Given the description of an element on the screen output the (x, y) to click on. 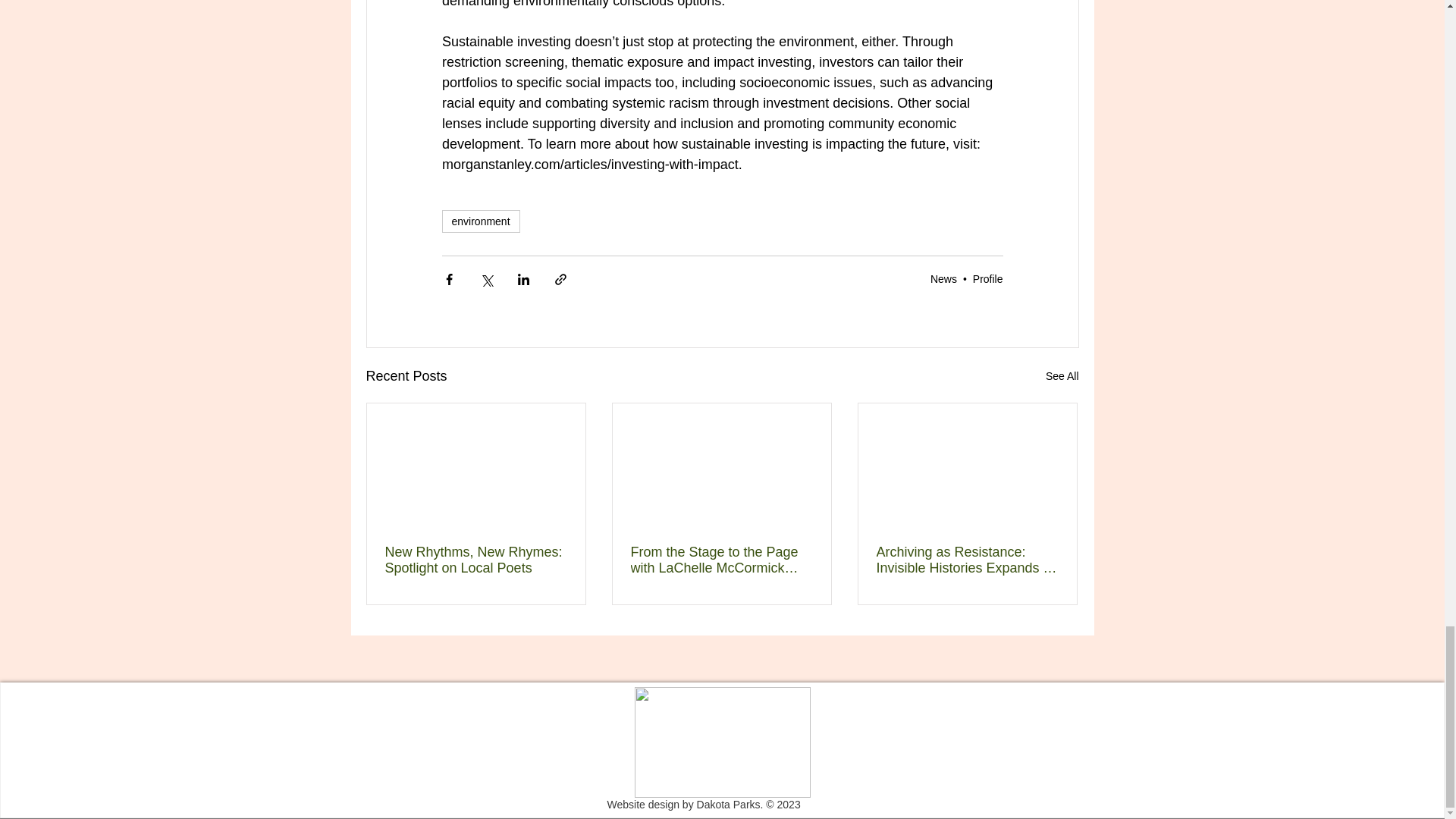
Profile (987, 277)
From the Stage to the Page with LaChelle McCormick Johns (721, 560)
Square Graphic-2.png (721, 742)
News (943, 277)
See All (1061, 376)
New Rhythms, New Rhymes: Spotlight on Local Poets (476, 560)
environment (480, 220)
